Given the description of an element on the screen output the (x, y) to click on. 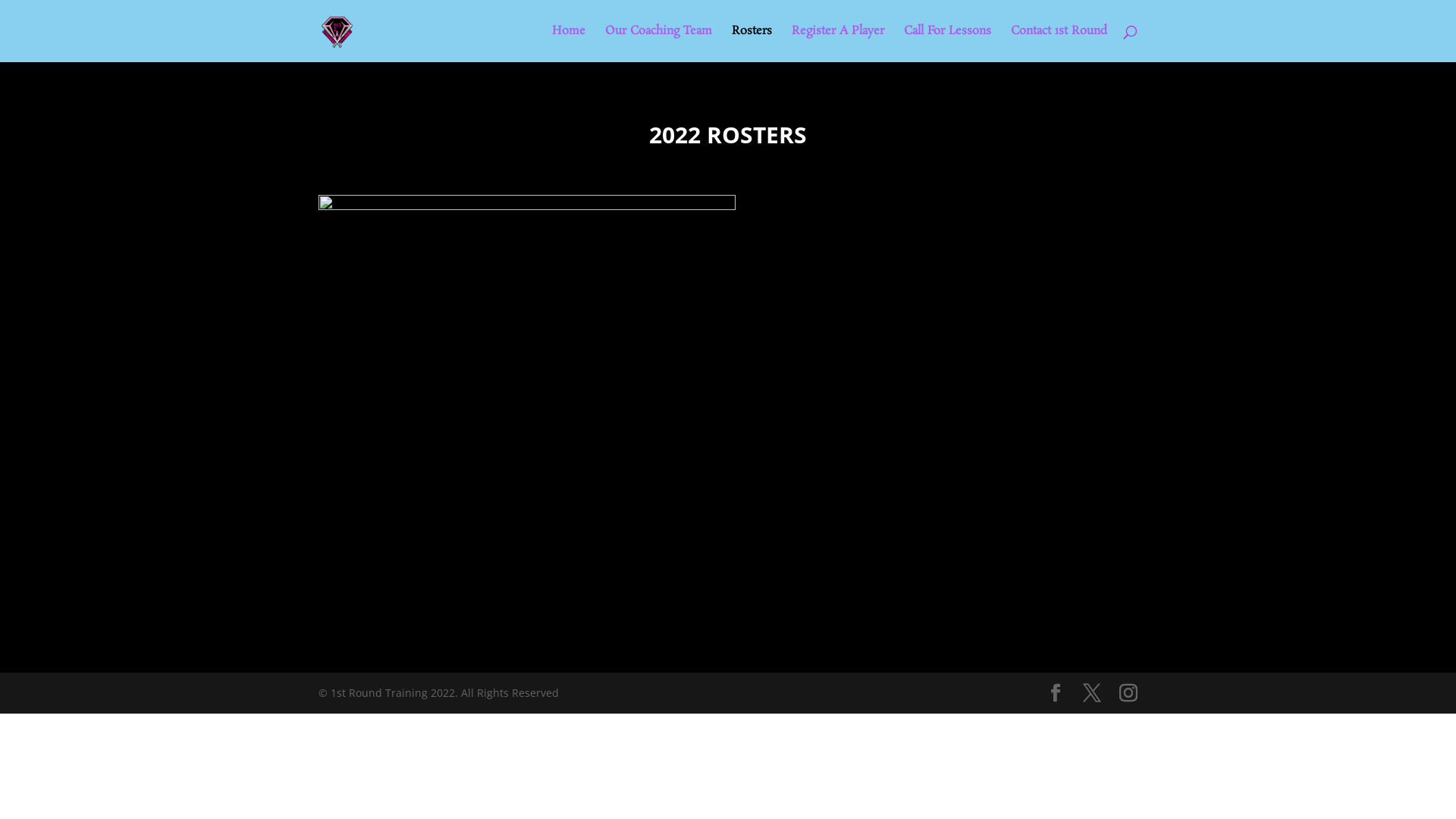
Contact 1st Round Element type: text (1058, 43)
Call For Lessons Element type: text (947, 43)
Our Coaching Team Element type: text (658, 43)
Home Element type: text (568, 43)
Register A Player Element type: text (837, 43)
Rosters Element type: text (751, 43)
